Given the description of an element on the screen output the (x, y) to click on. 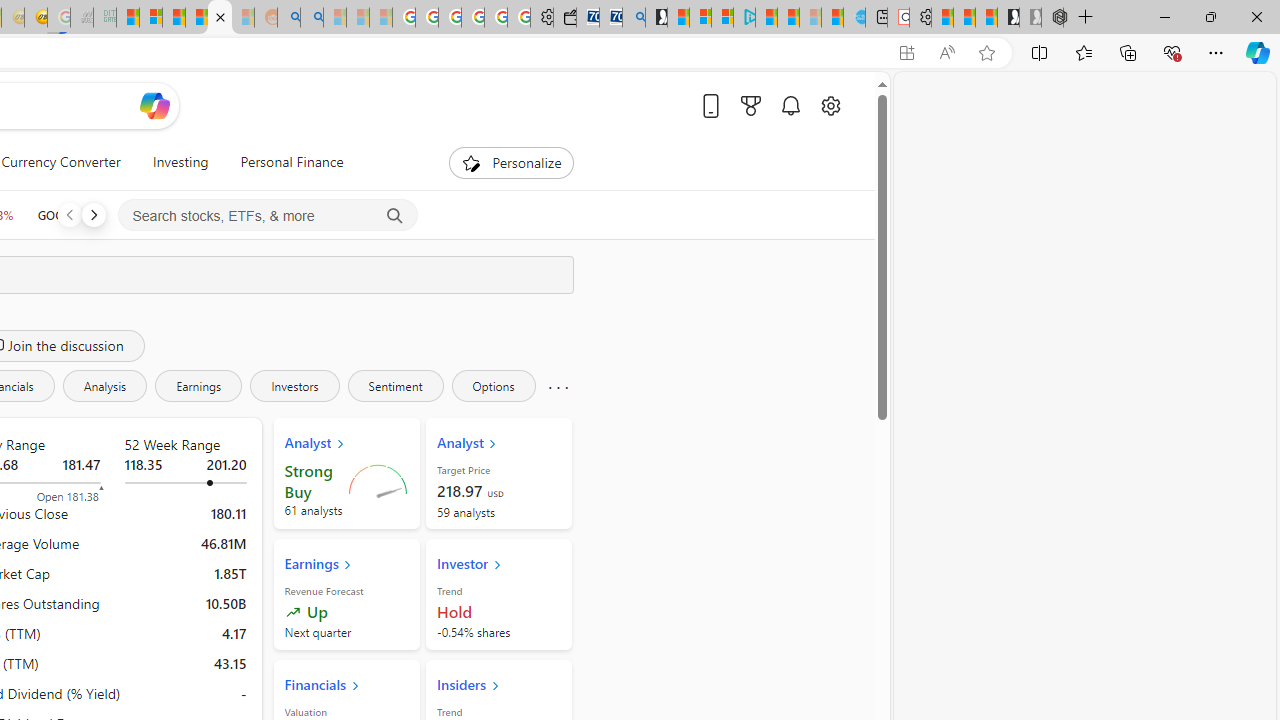
Utah sues federal government - Search (311, 17)
Class: card_head_icon_lightMode-DS-EntryPoint1-1 (494, 685)
Currency Converter (61, 162)
